Given the description of an element on the screen output the (x, y) to click on. 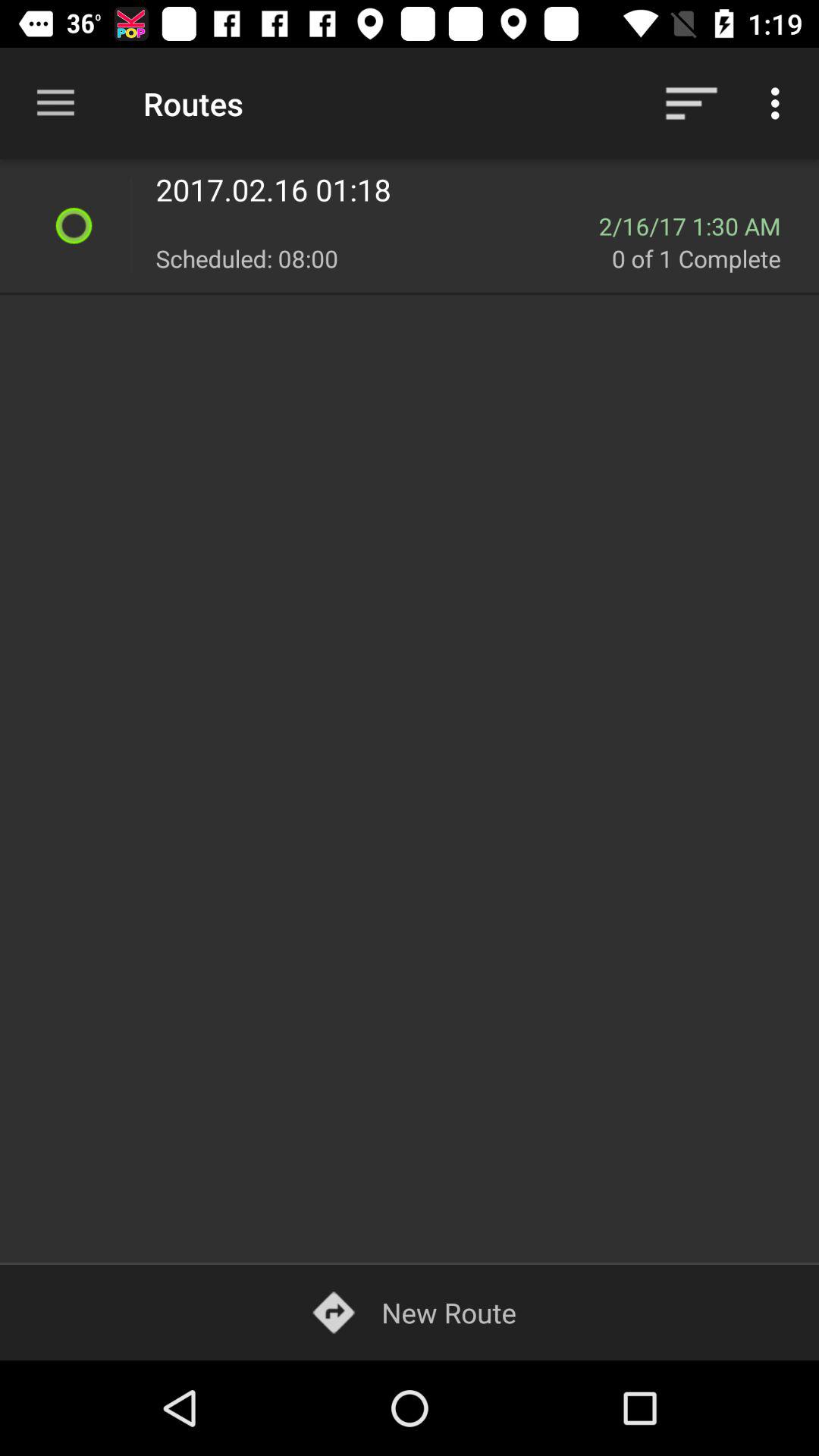
press icon next to the 2017 02 16 item (130, 225)
